Given the description of an element on the screen output the (x, y) to click on. 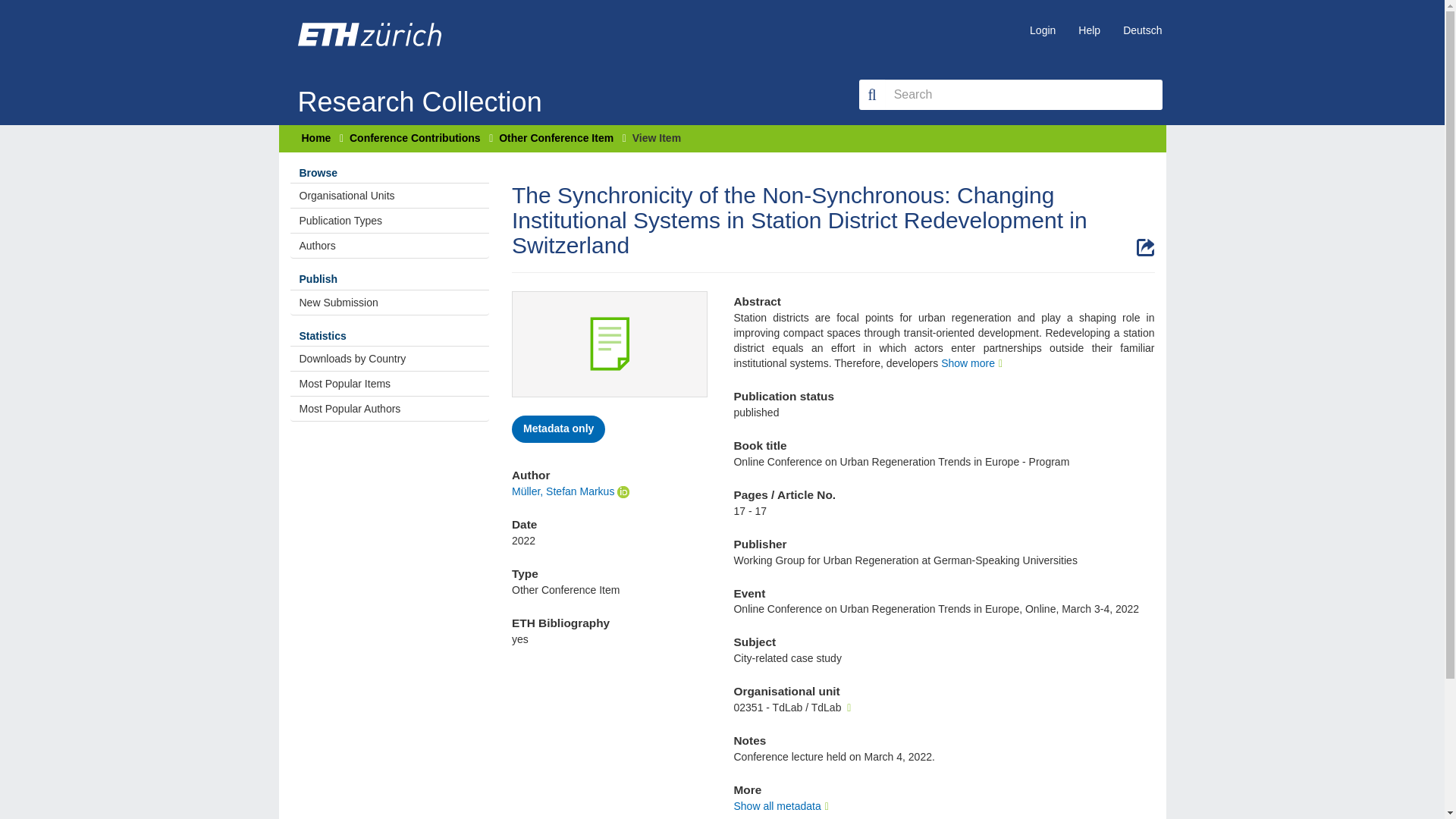
Deutsch (1130, 29)
Most Popular Authors (389, 408)
New Submission (389, 302)
Publication Types (389, 220)
Login (1031, 29)
Most Popular Items (389, 383)
Research Collection (419, 79)
Downloads by Country (389, 358)
Other Conference Item (555, 137)
Organisational Units (389, 195)
Help (1077, 29)
Show more (973, 363)
Authors (389, 245)
Search placeholder header (1023, 94)
Conference Contributions (414, 137)
